Given the description of an element on the screen output the (x, y) to click on. 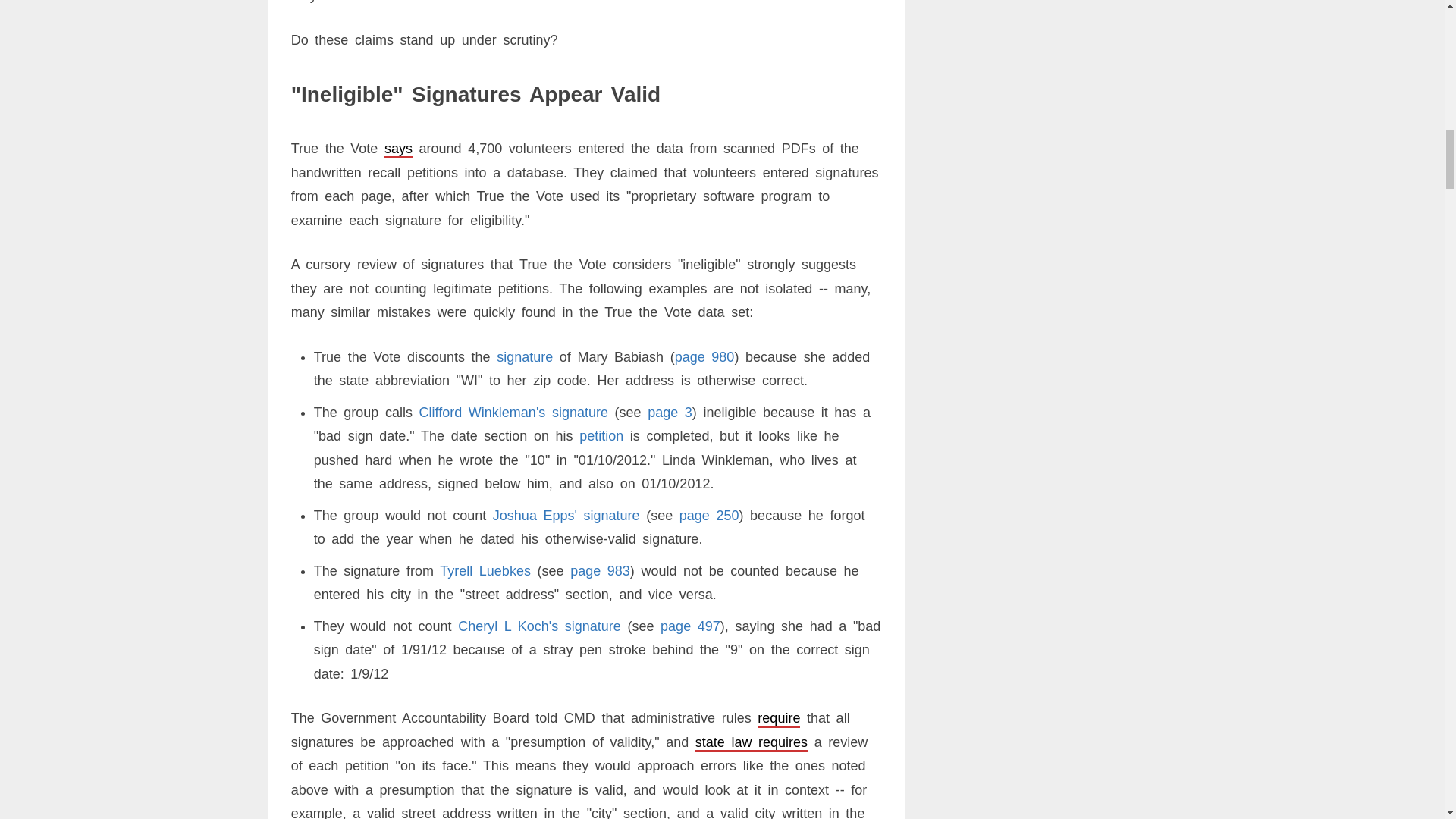
Clifford Winkleman's signature (513, 412)
page 497 (690, 626)
page 250 (709, 515)
Cheryl L Koch's signature (539, 626)
petition (601, 435)
page 3 (670, 412)
page 983 (600, 570)
page 980 (705, 356)
says (398, 148)
Tyrell Luebkes (485, 570)
signature (524, 356)
Joshua Epps' signature (566, 515)
